Given the description of an element on the screen output the (x, y) to click on. 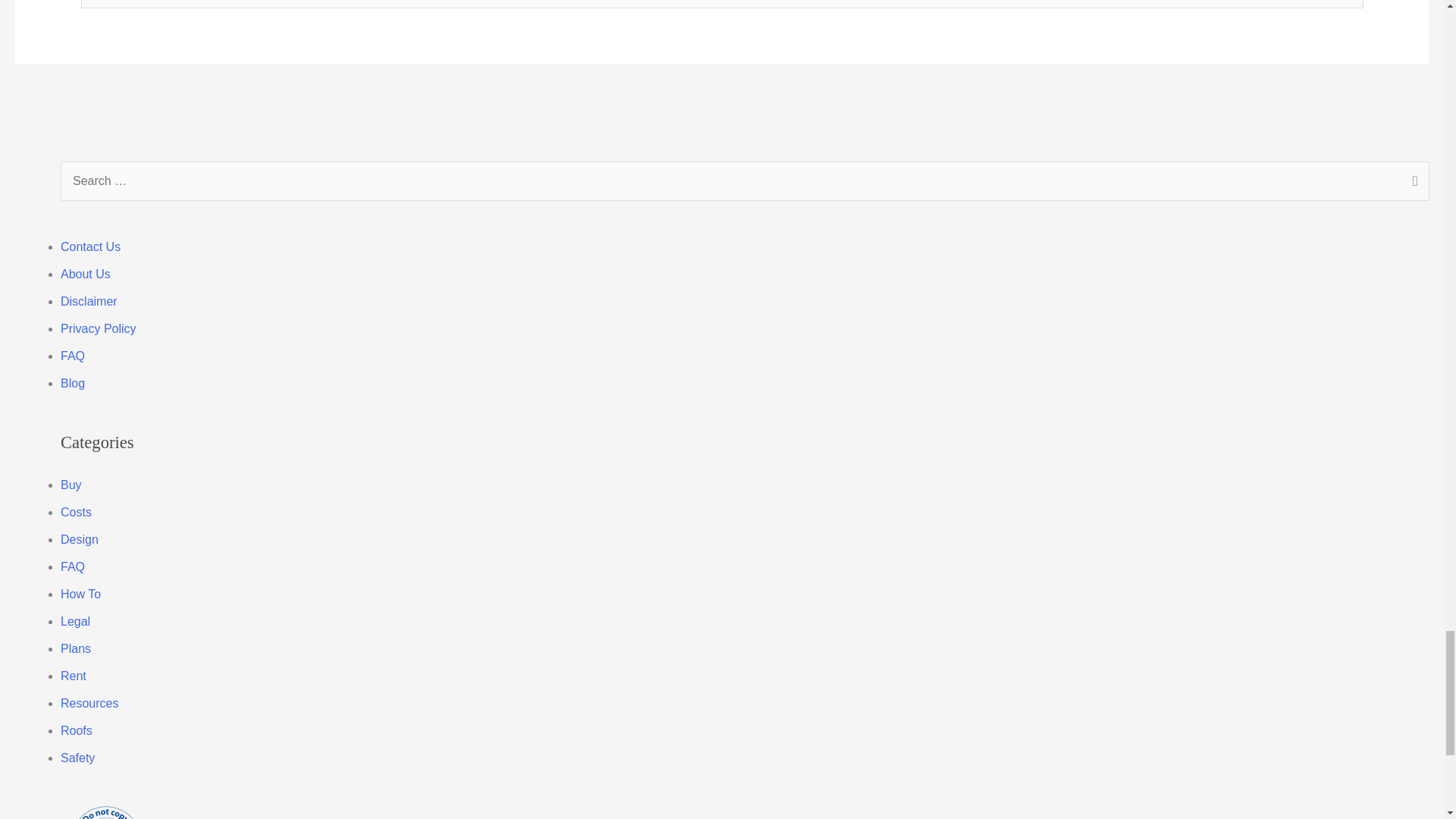
Disclaimer (89, 300)
Contact Us (90, 246)
Protected by Copyscape - Do not copy content from this page. (106, 811)
About Us (85, 273)
